Given the description of an element on the screen output the (x, y) to click on. 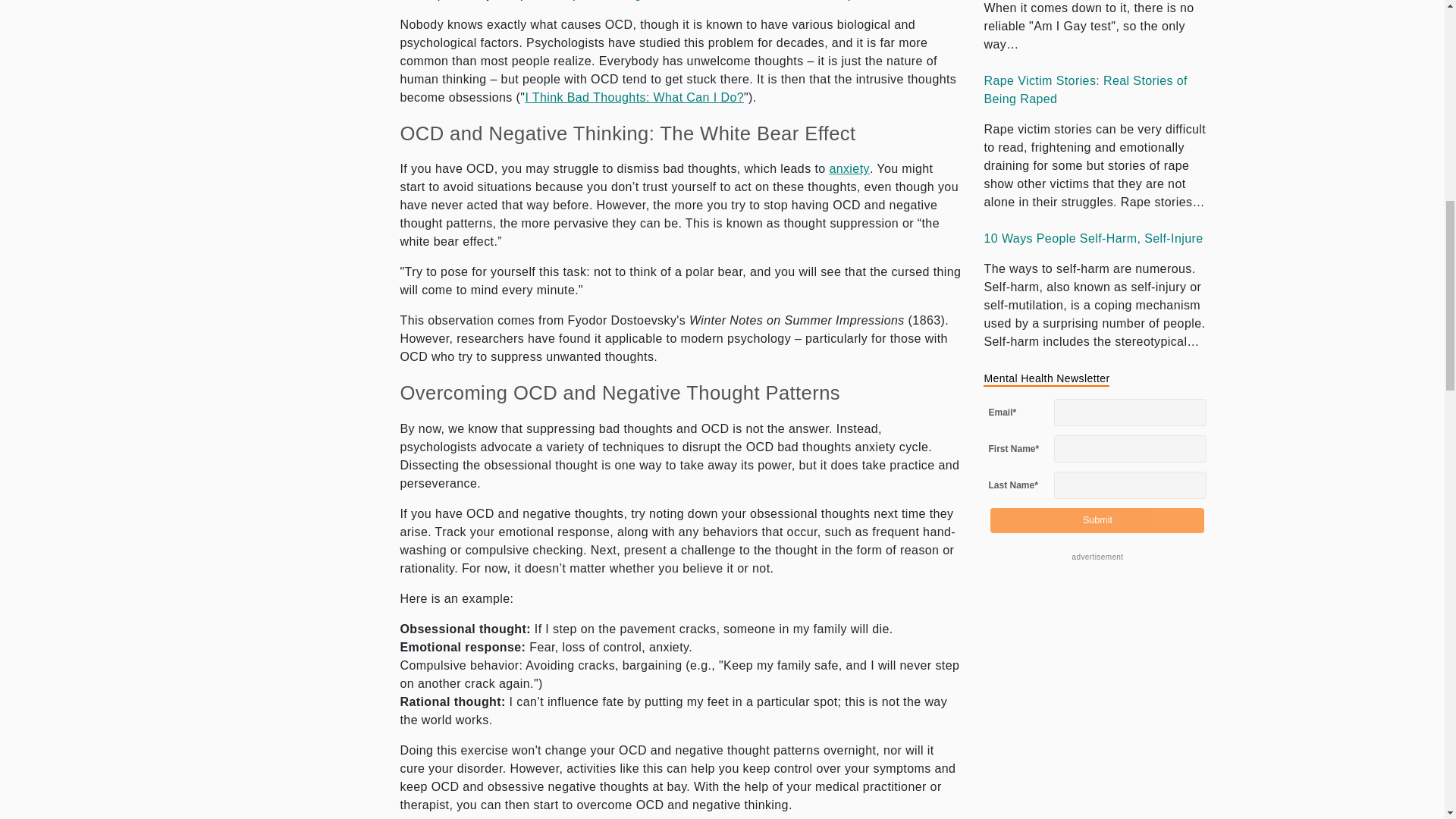
Submit (1097, 520)
What is Anxiety? Anxiety Definition (848, 168)
